Given the description of an element on the screen output the (x, y) to click on. 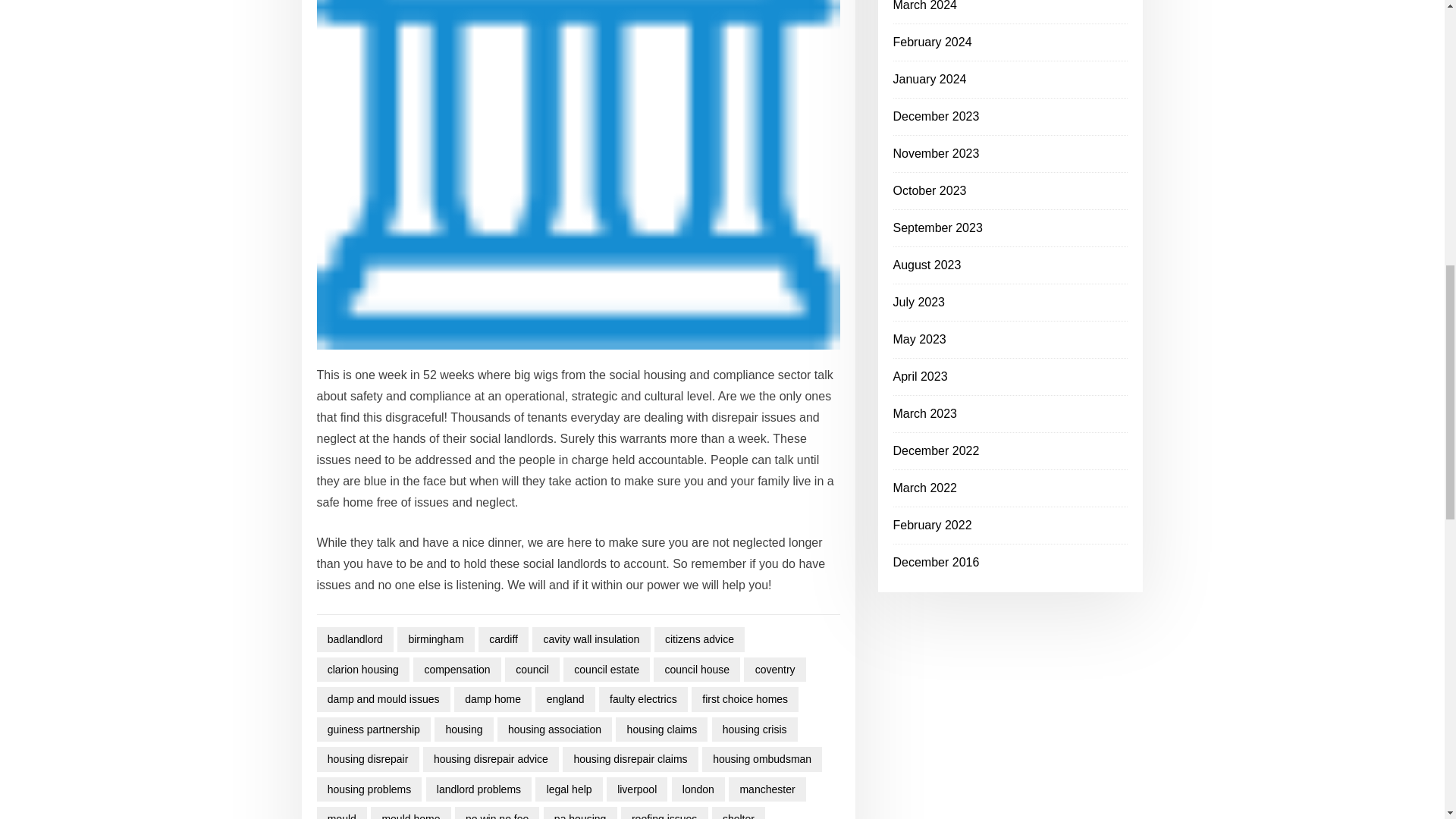
council house (696, 669)
citizens advice (698, 639)
council estate (606, 669)
housing (463, 729)
damp and mould issues (383, 699)
compensation (456, 669)
birmingham (435, 639)
housing association (554, 729)
cavity wall insulation (590, 639)
clarion housing (363, 669)
cardiff (503, 639)
first choice homes (744, 699)
damp home (492, 699)
england (564, 699)
council (532, 669)
